Given the description of an element on the screen output the (x, y) to click on. 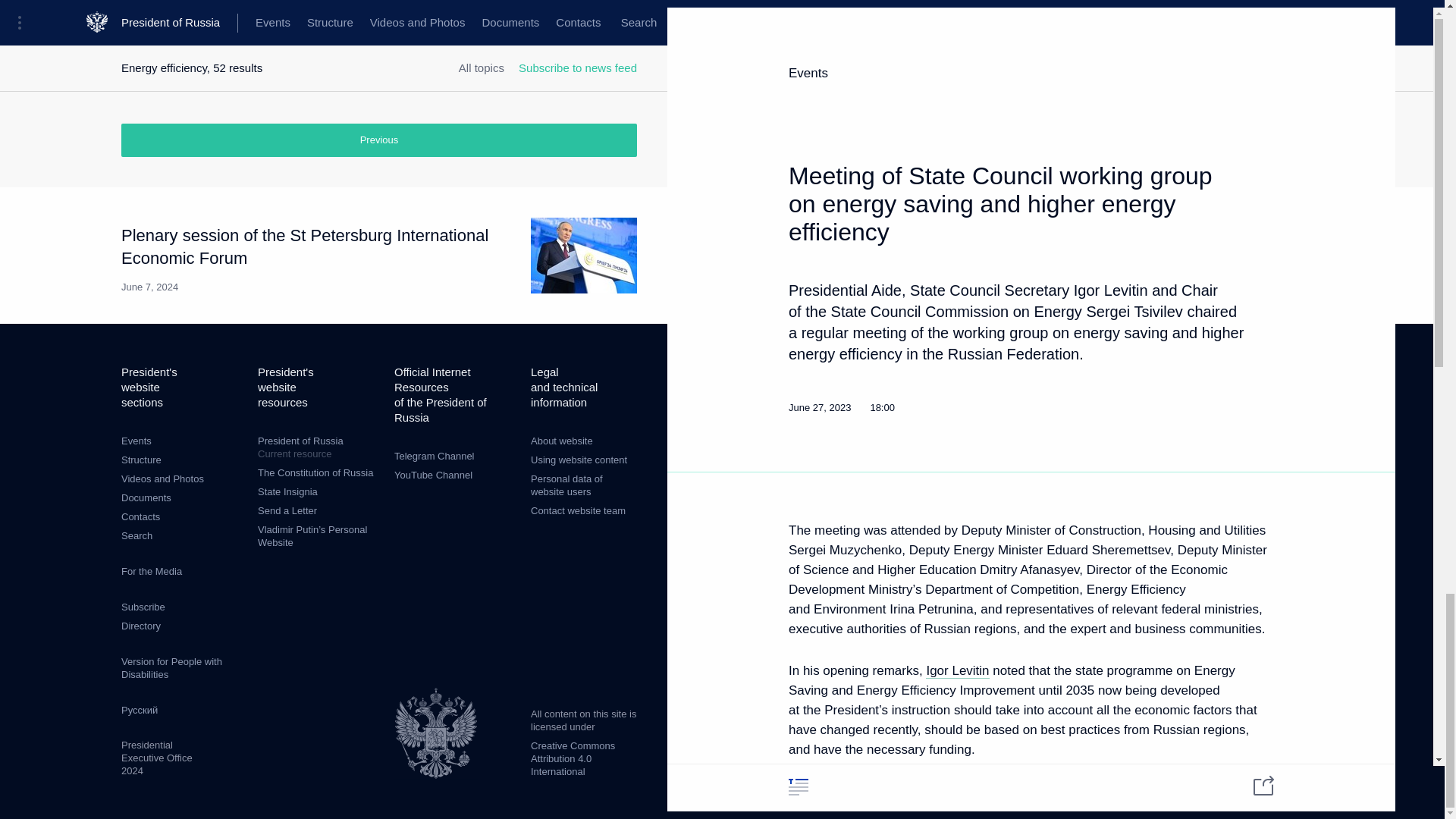
Videos and Photos (161, 478)
Previous (378, 140)
Documents (145, 497)
Events (135, 440)
Structure (140, 460)
